Given the description of an element on the screen output the (x, y) to click on. 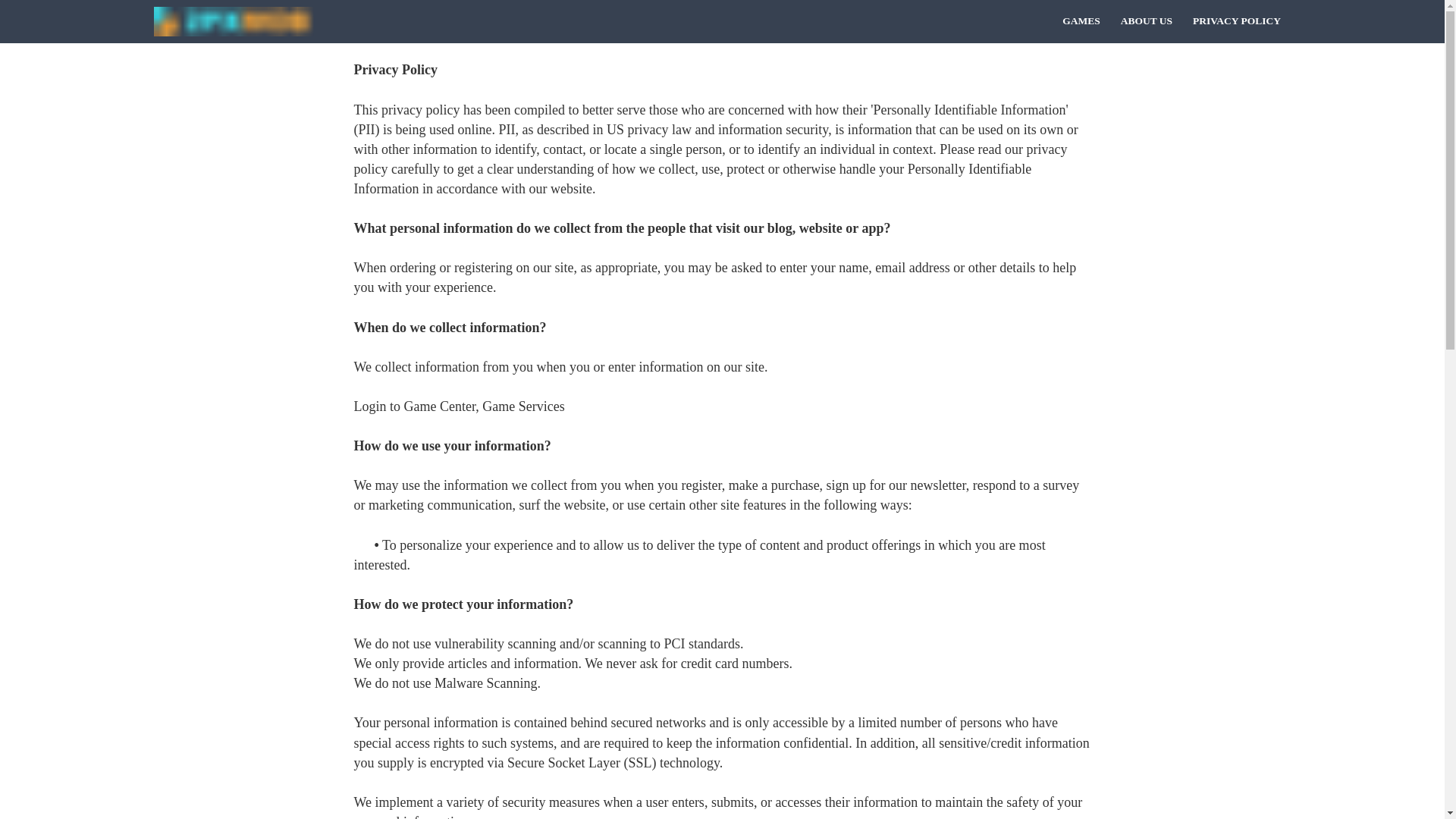
GAMES Element type: text (1081, 21)
ABOUT US Element type: text (1146, 21)
PRIVACY POLICY Element type: text (1237, 21)
